Given the description of an element on the screen output the (x, y) to click on. 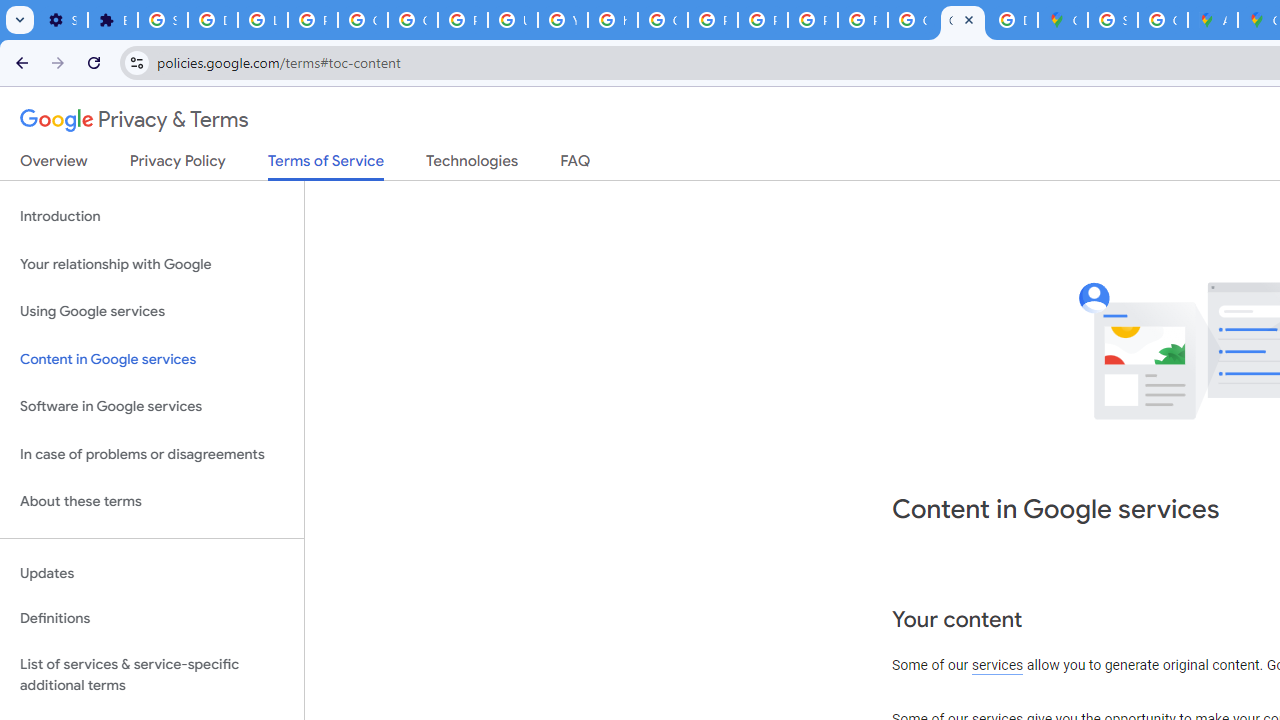
Google Account Help (362, 20)
services (997, 666)
Extensions (113, 20)
Technologies (472, 165)
Content in Google services (152, 358)
Overview (54, 165)
Privacy & Terms (134, 120)
Software in Google services (152, 407)
Create your Google Account (1162, 20)
Updates (152, 573)
Sign in - Google Accounts (163, 20)
Using Google services (152, 312)
